Given the description of an element on the screen output the (x, y) to click on. 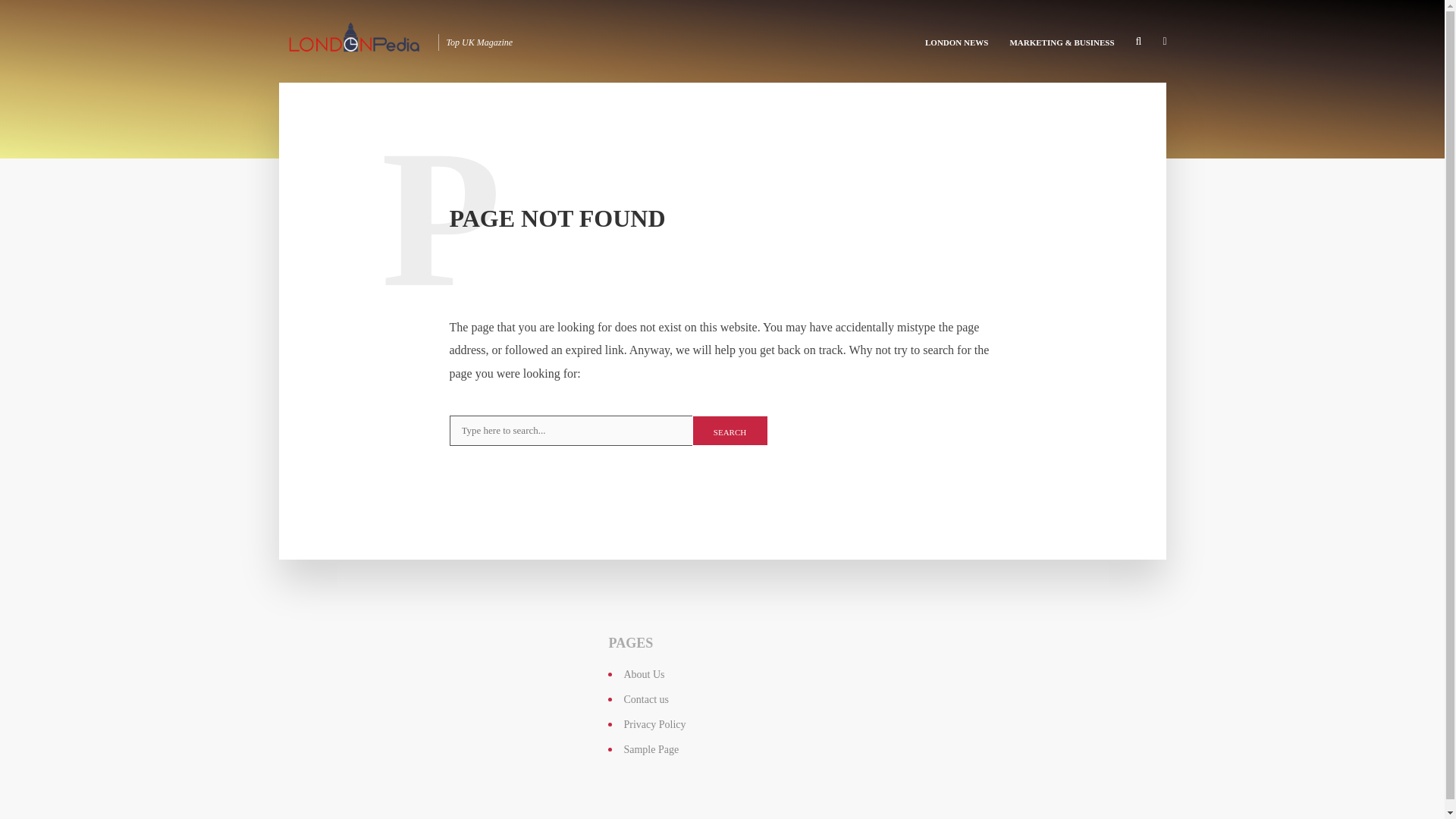
SEARCH (729, 430)
Privacy Policy (654, 724)
Sample Page (650, 749)
LONDON NEWS (956, 41)
Contact us (645, 699)
About Us (643, 674)
